Given the description of an element on the screen output the (x, y) to click on. 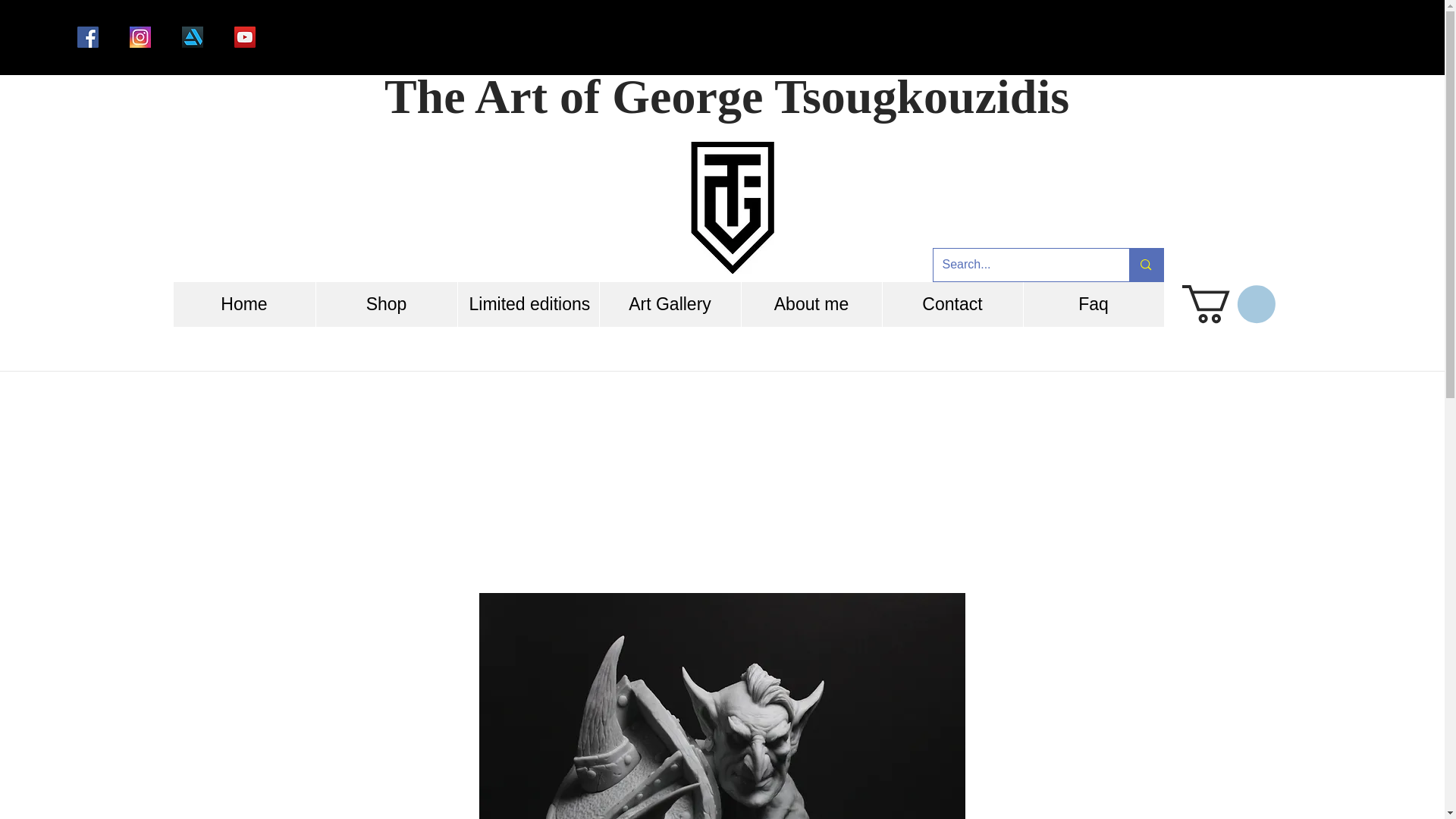
Faq (1092, 303)
The Art of George Tsougkouzidis (726, 96)
Limited editions (527, 303)
Contact (951, 303)
Shop (386, 303)
About me (809, 303)
Home (243, 303)
Art Gallery (669, 303)
